Given the description of an element on the screen output the (x, y) to click on. 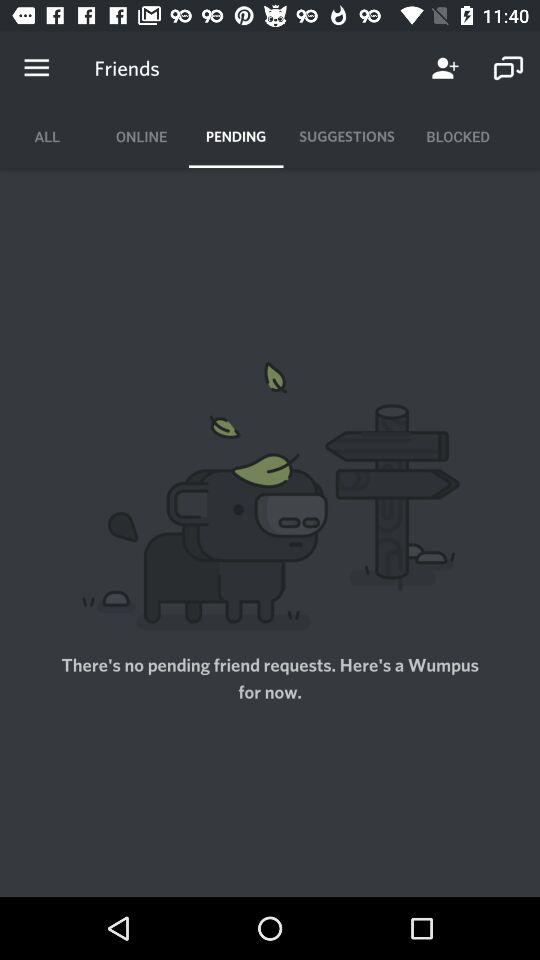
menu dropdown (36, 68)
